Given the description of an element on the screen output the (x, y) to click on. 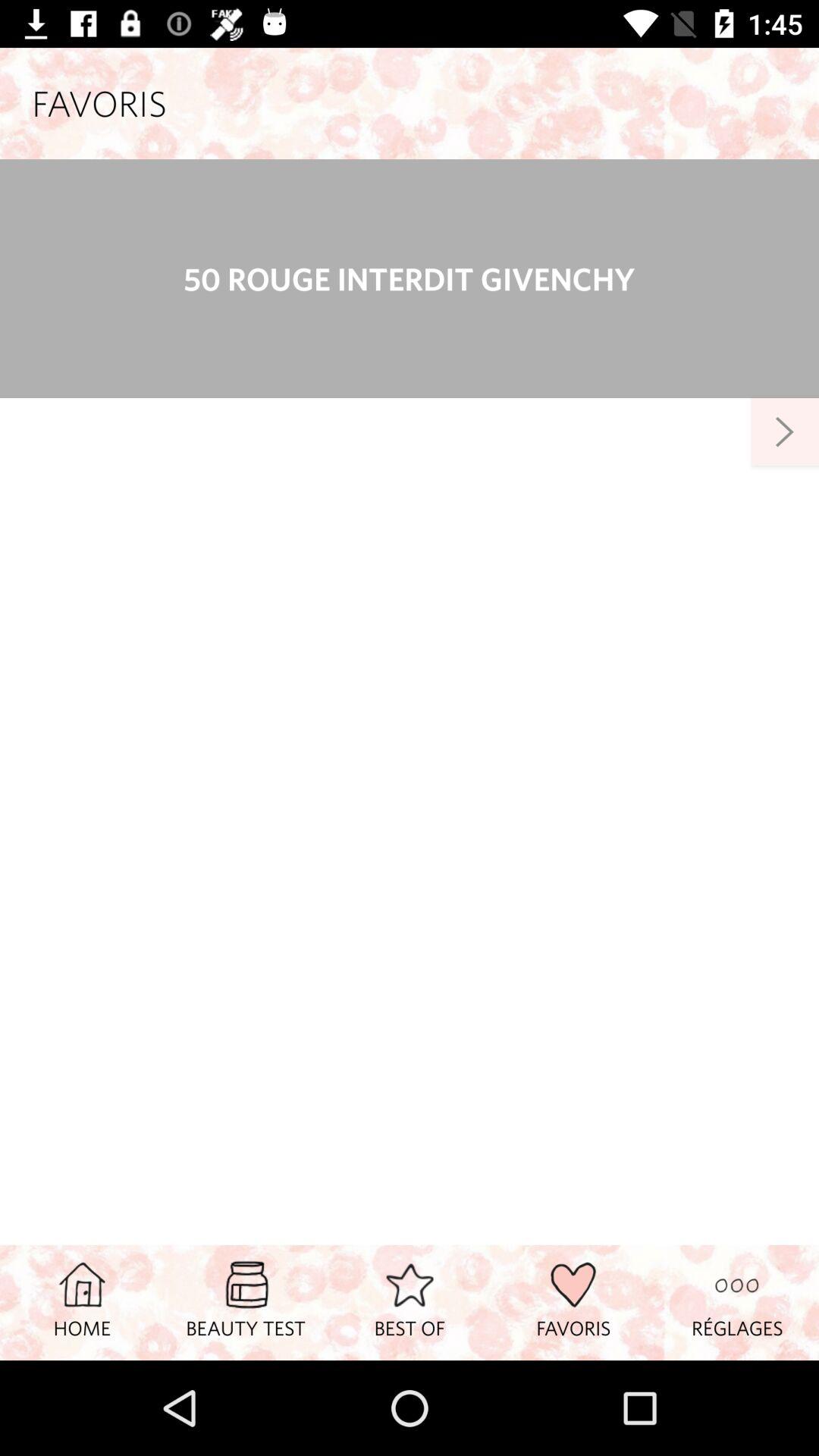
press best of (409, 1302)
